Given the description of an element on the screen output the (x, y) to click on. 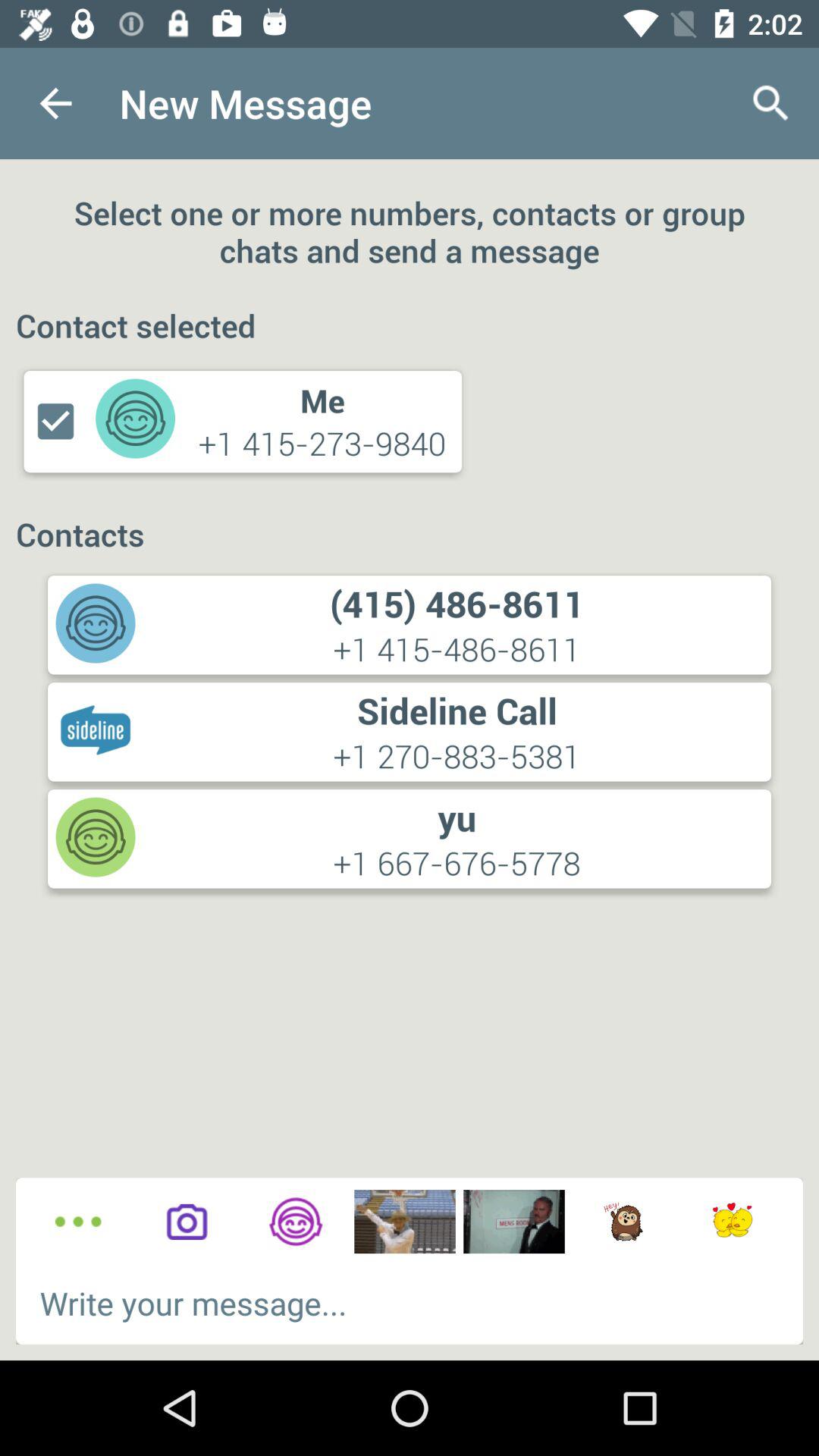
select meme (404, 1221)
